Given the description of an element on the screen output the (x, y) to click on. 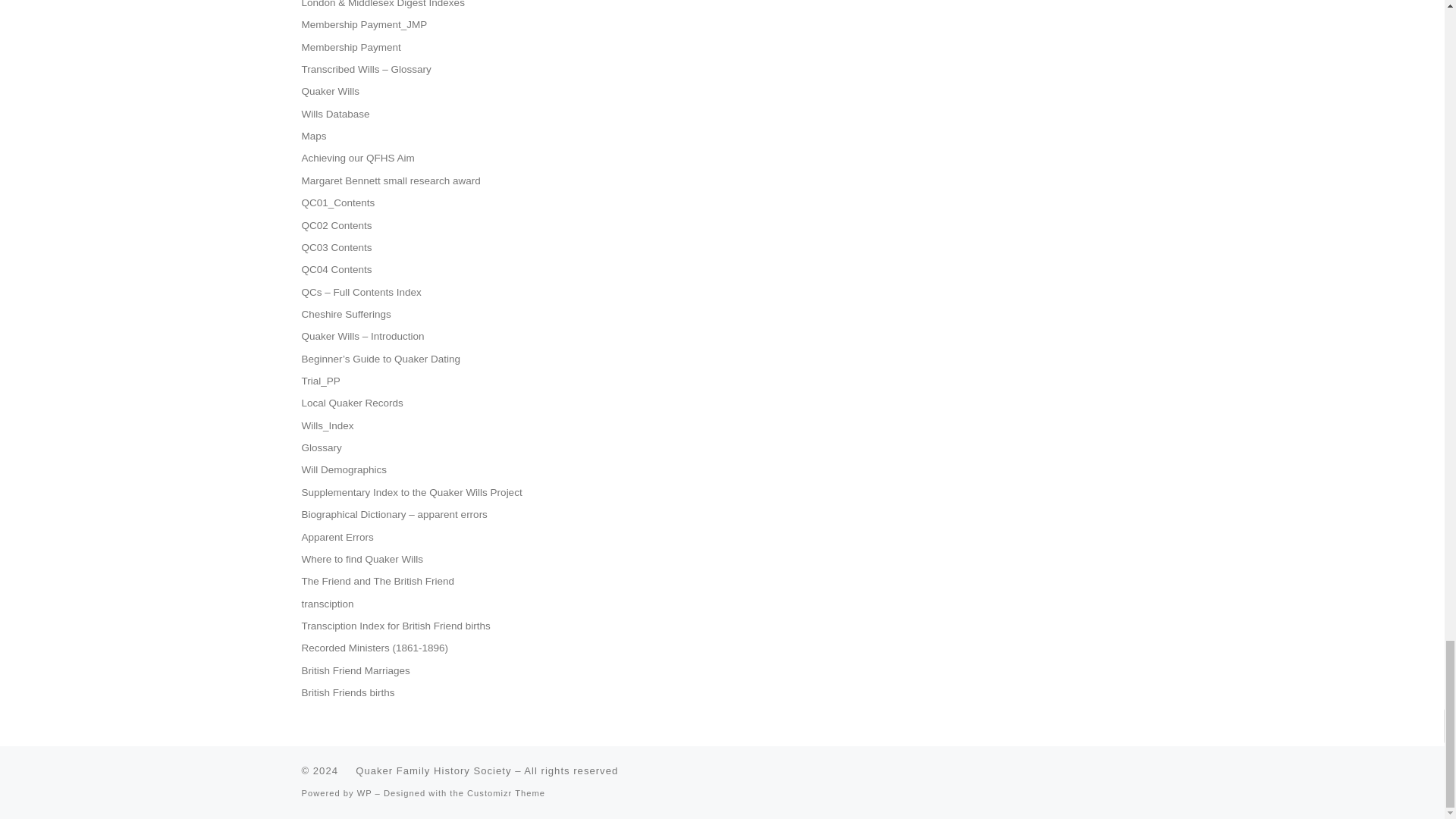
Customizr Theme (505, 792)
Powered by WordPress (364, 792)
